Given the description of an element on the screen output the (x, y) to click on. 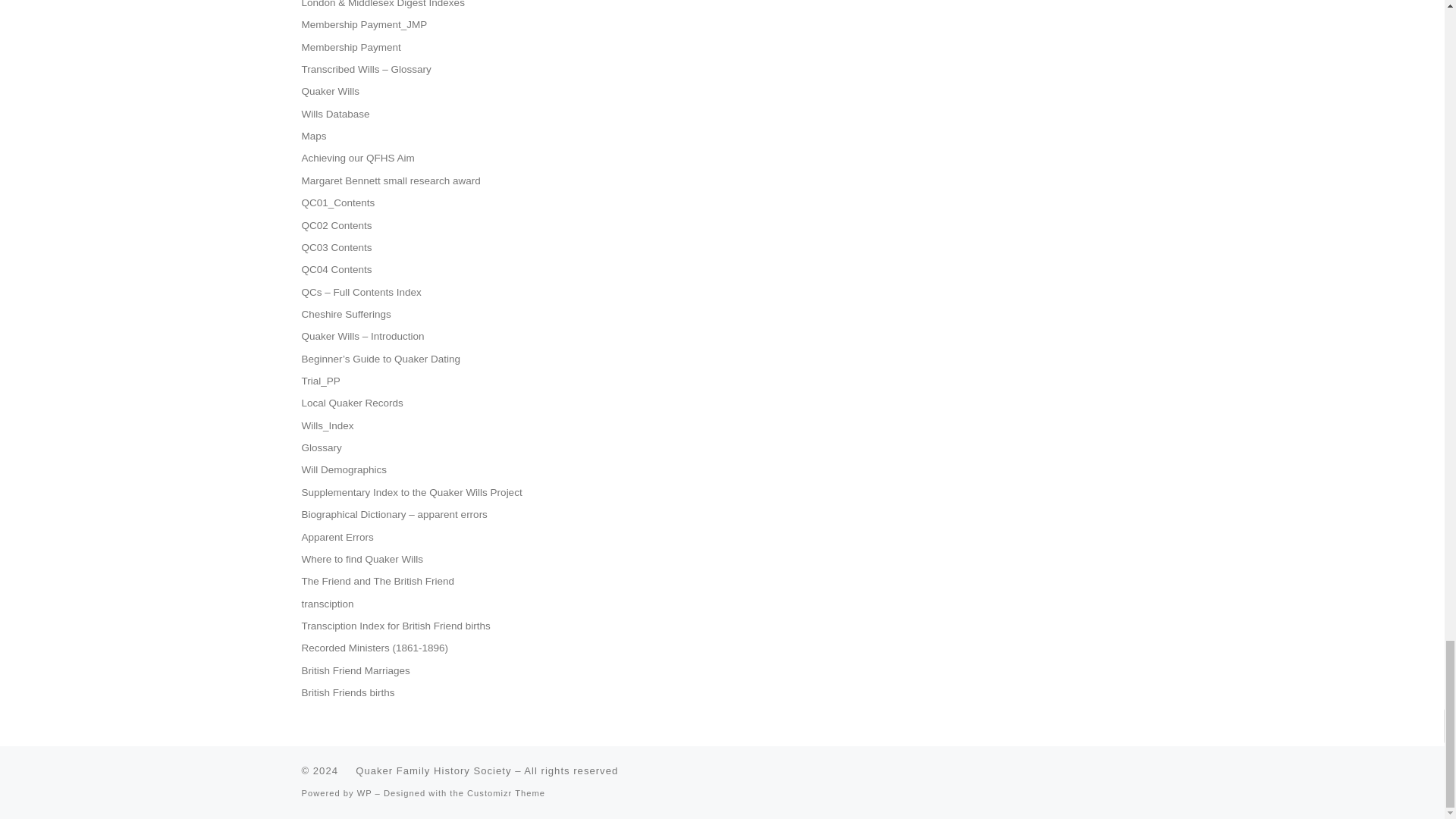
Customizr Theme (505, 792)
Powered by WordPress (364, 792)
